Given the description of an element on the screen output the (x, y) to click on. 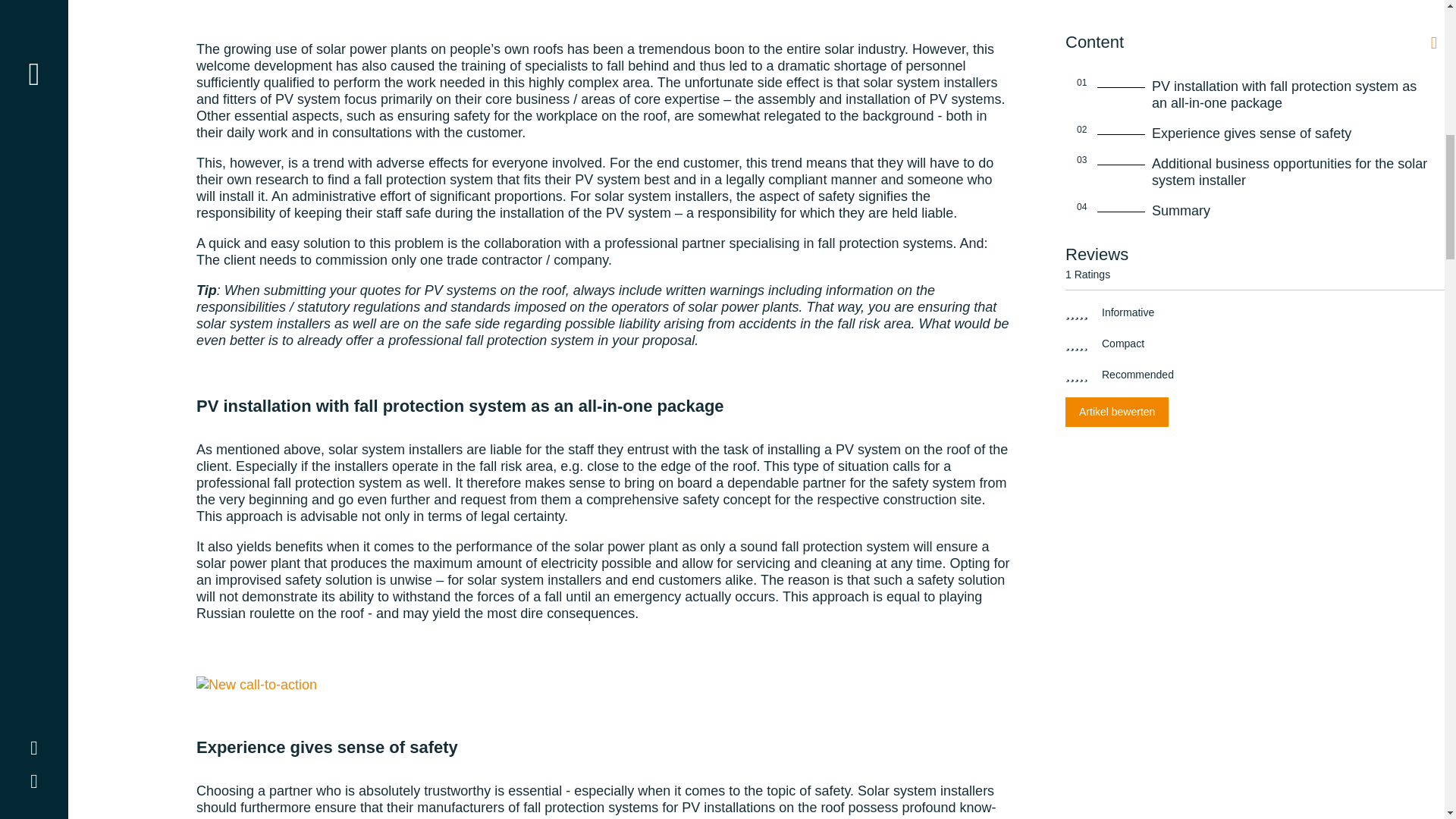
5,0 (1076, 313)
4,0 (1076, 344)
4,0 (1076, 375)
